Given the description of an element on the screen output the (x, y) to click on. 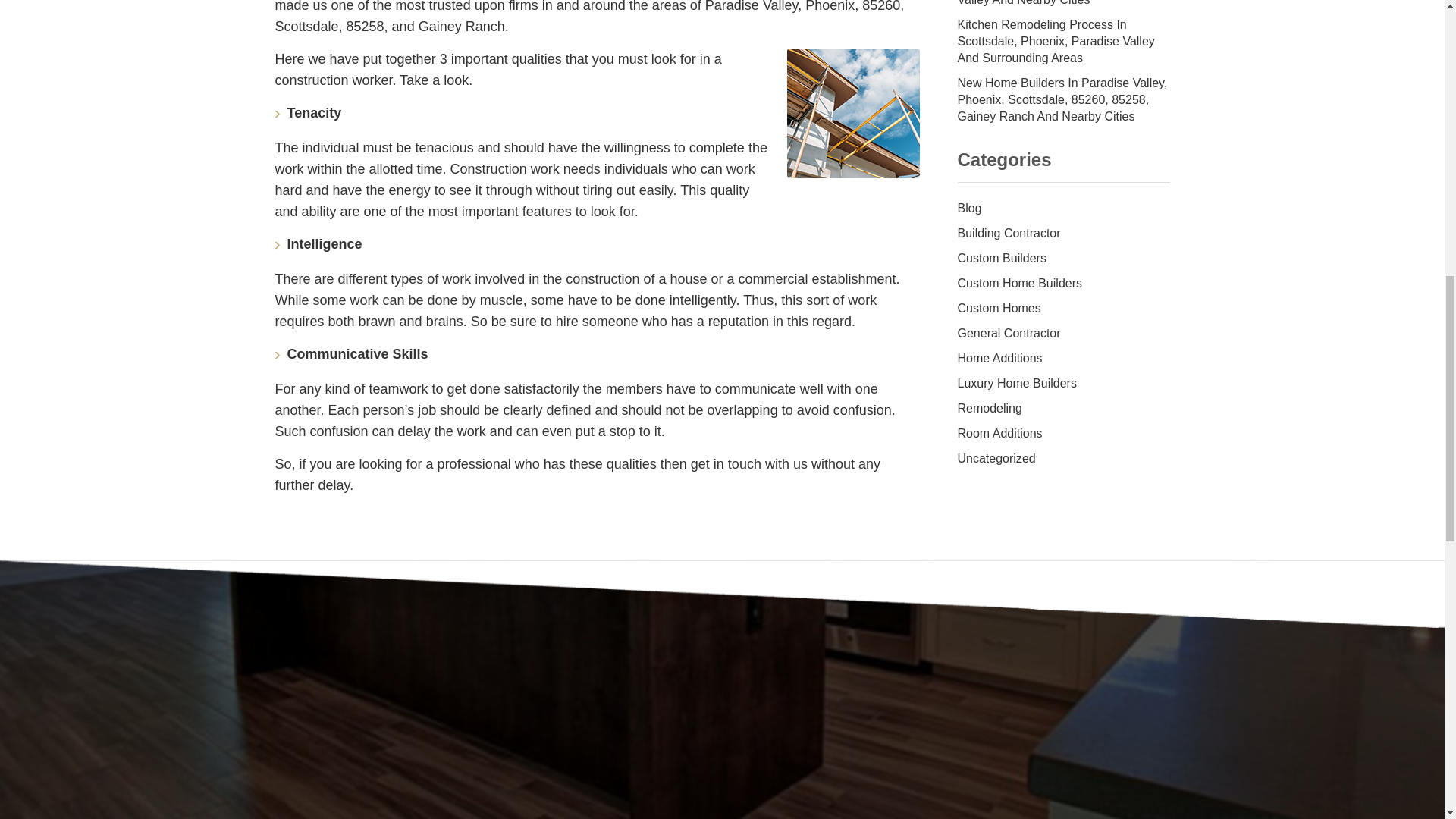
Room Additions (1062, 433)
Blog (1062, 208)
Custom Home Builders (1062, 283)
Remodeling (1062, 408)
Custom Builders (1062, 258)
General Contractor (1062, 333)
Luxury Home Builders (1062, 383)
Custom Homes (1062, 308)
Uncategorized (1062, 458)
Home Additions (1062, 358)
Building Contractor (1062, 233)
